Given the description of an element on the screen output the (x, y) to click on. 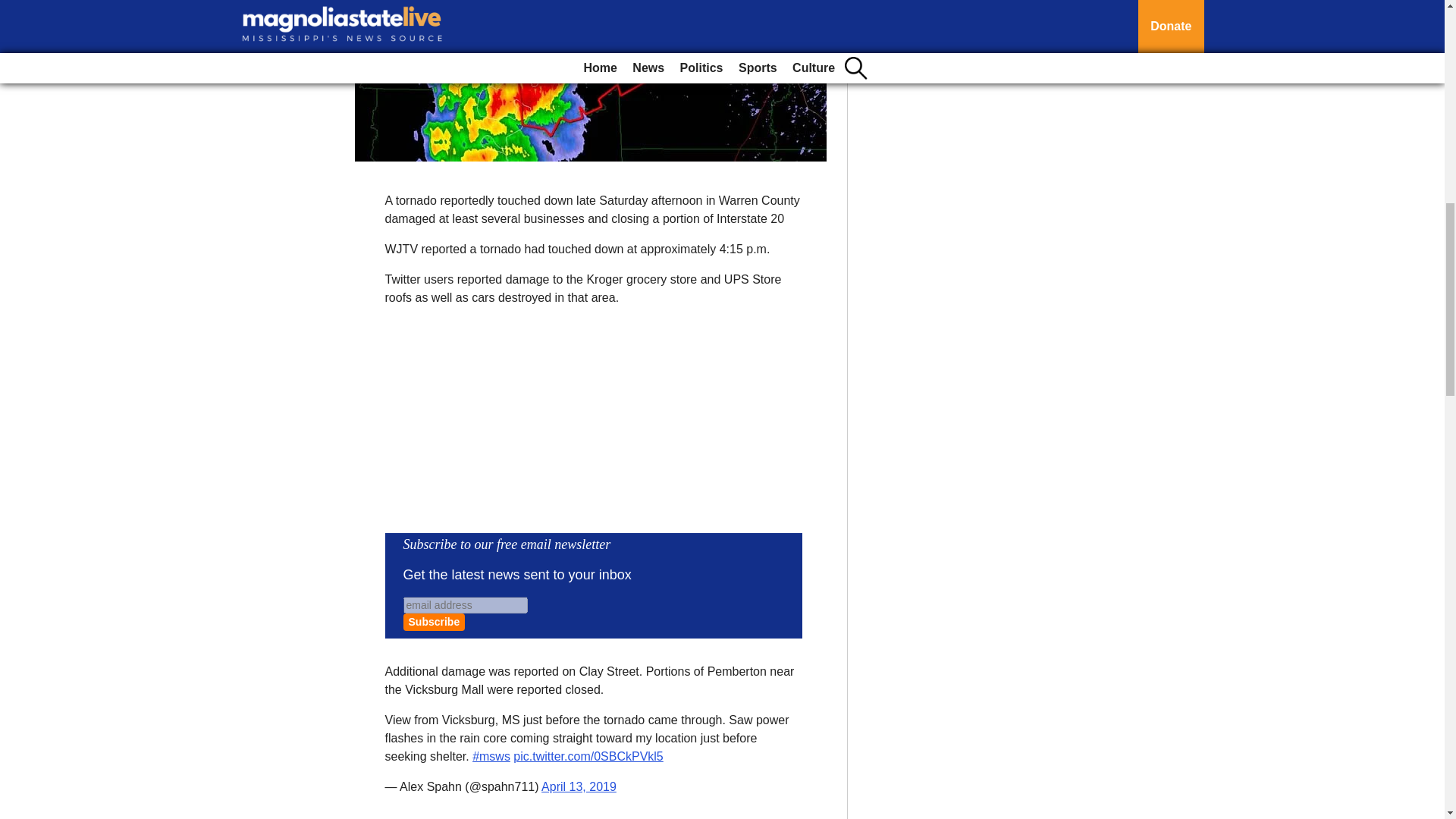
Subscribe (434, 621)
Subscribe (434, 621)
April 13, 2019 (578, 786)
